Given the description of an element on the screen output the (x, y) to click on. 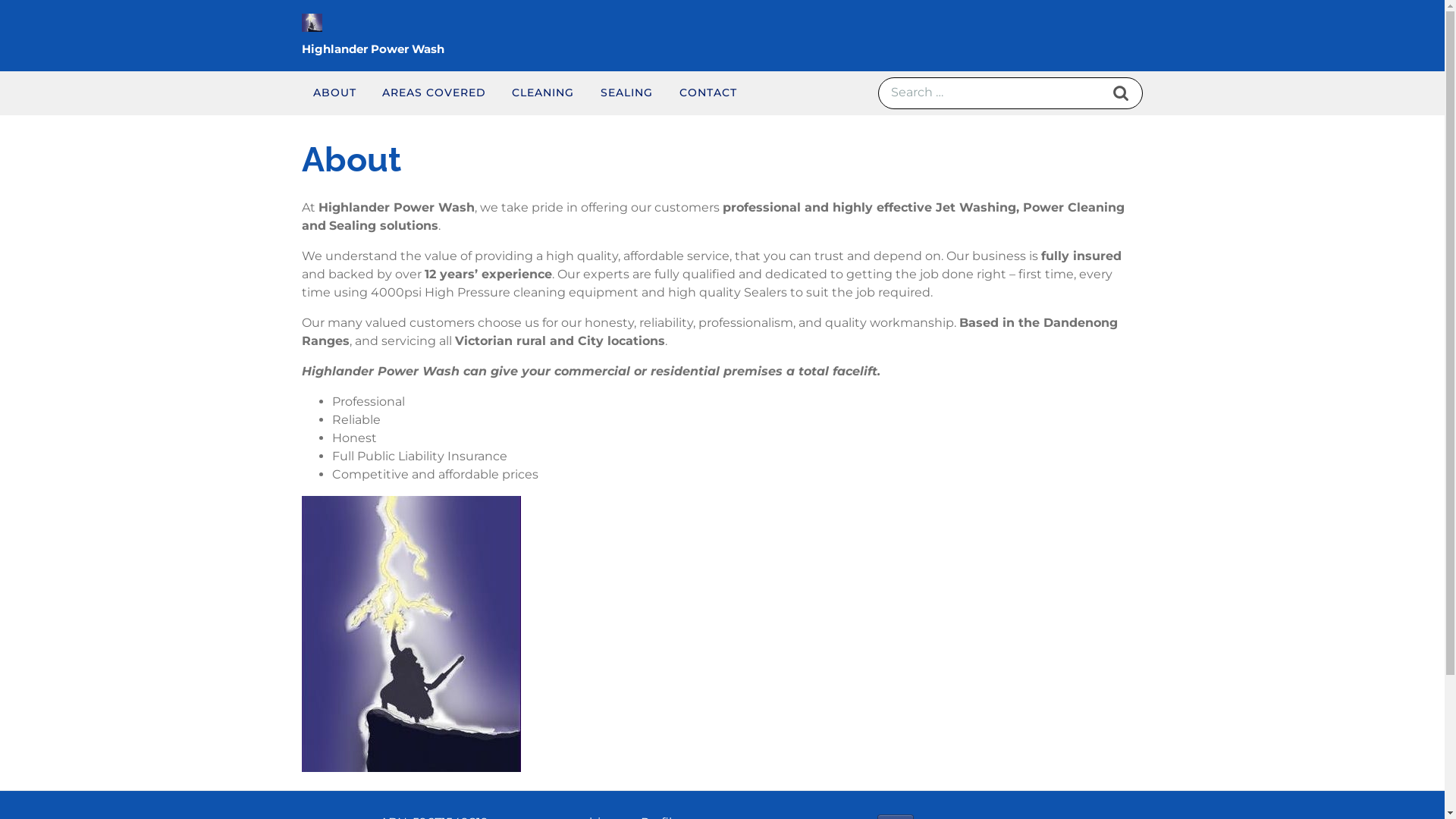
Highlander Power Wash Element type: text (372, 48)
Search Element type: text (1120, 92)
cropped-272863.jpg Element type: hover (410, 633)
SEALING Element type: text (625, 92)
AREAS COVERED Element type: text (433, 92)
CONTACT Element type: text (707, 92)
CLEANING Element type: text (542, 92)
ABOUT Element type: text (334, 92)
